Given the description of an element on the screen output the (x, y) to click on. 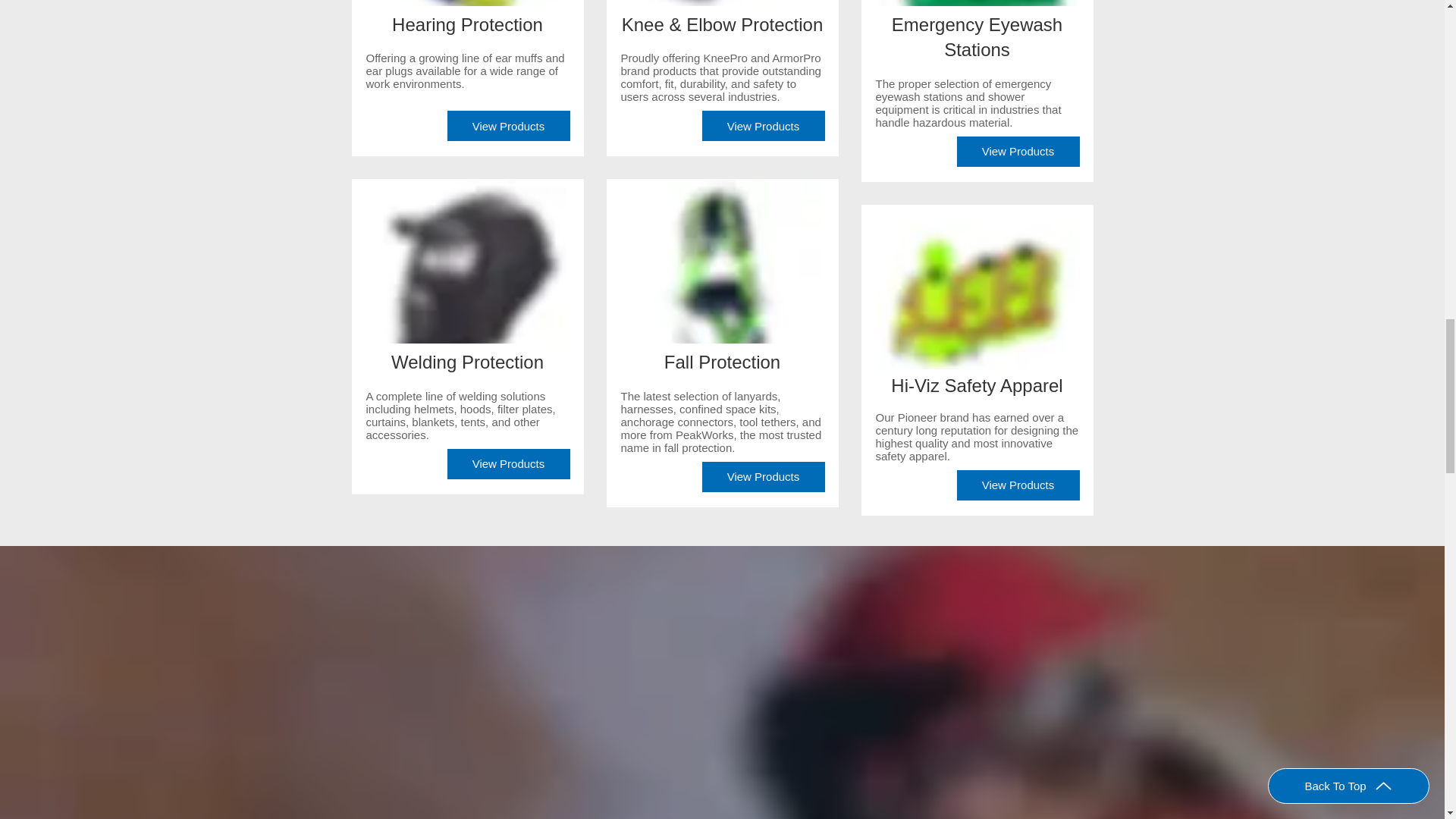
View Products (508, 125)
View Products (508, 463)
View Products (763, 125)
